Given the description of an element on the screen output the (x, y) to click on. 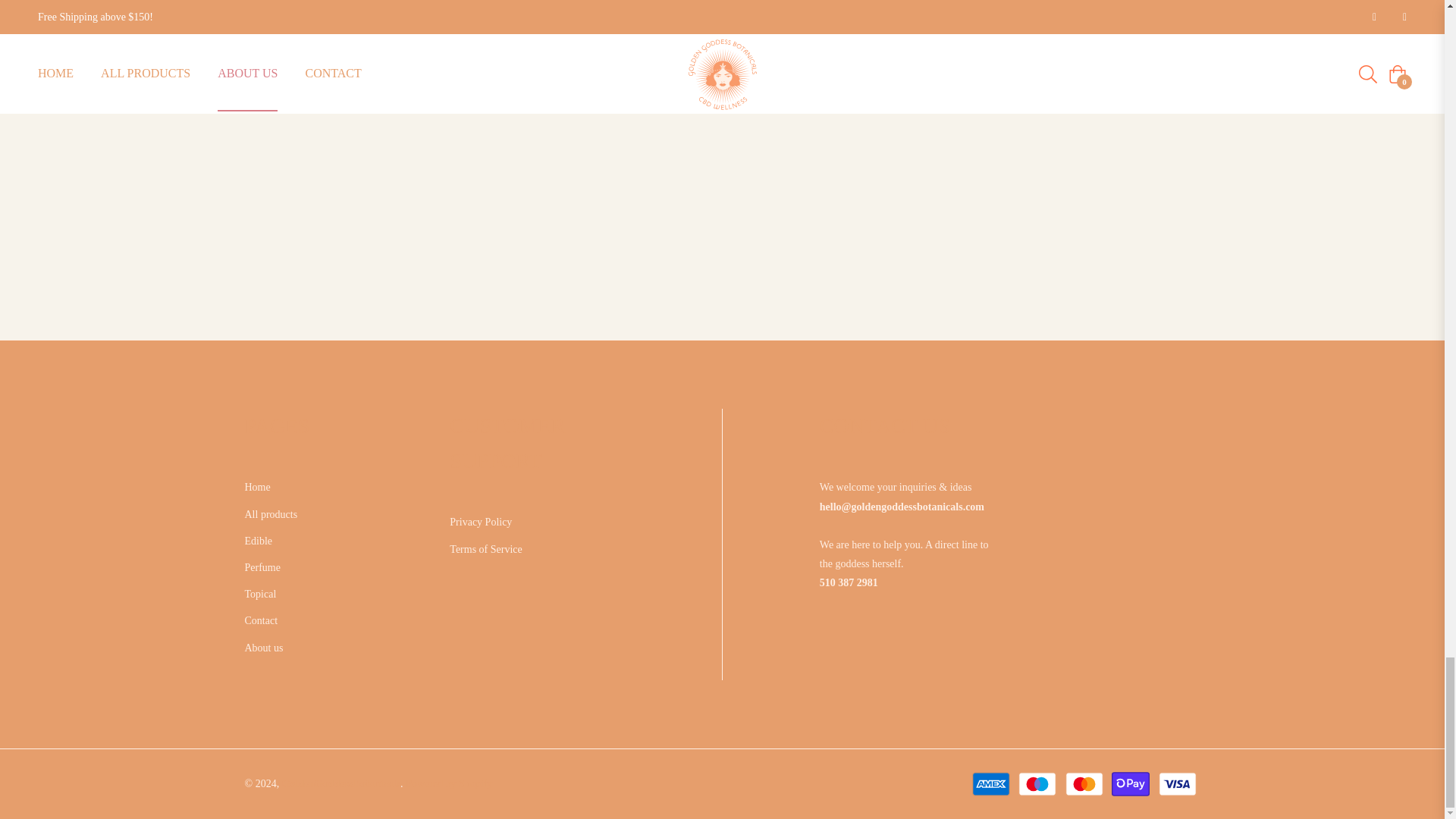
GoldenGoddessBotanicals (341, 783)
Edible (258, 541)
Contact (261, 620)
Home (256, 487)
Topical (260, 593)
Terms of Service (485, 549)
Powered by Shopify (449, 783)
All products (270, 514)
Privacy Policy (480, 521)
Perfume (261, 567)
